Given the description of an element on the screen output the (x, y) to click on. 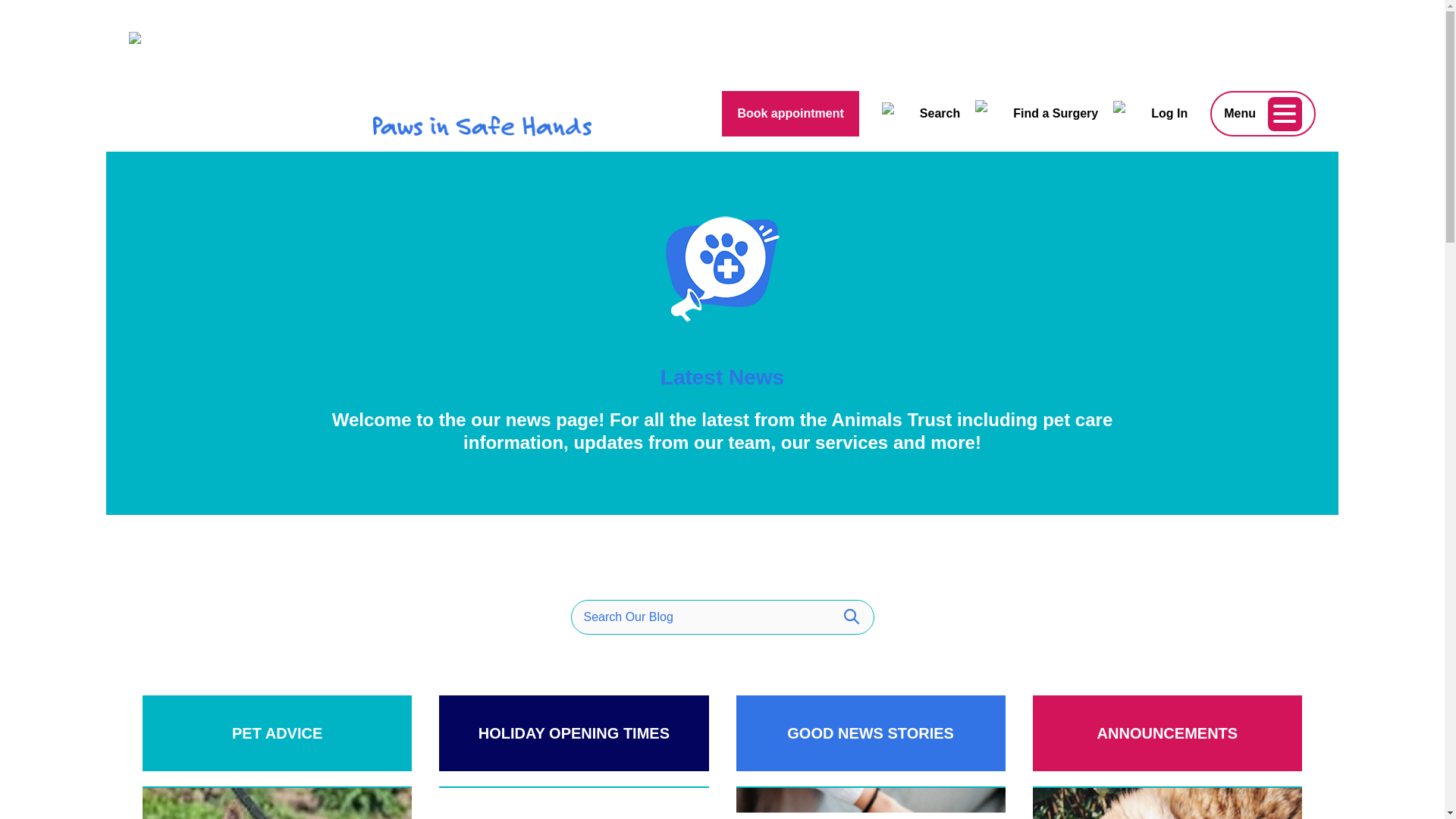
Search (920, 113)
Find a Surgery (1036, 113)
Log In (1150, 112)
HOLIDAY OPENING TIMES (573, 733)
Book appointment (789, 113)
GOOD NEWS STORIES (869, 733)
PET ADVICE (277, 733)
ANNOUNCEMENTS (1166, 733)
Menu (1262, 113)
Book appointment (790, 113)
